Given the description of an element on the screen output the (x, y) to click on. 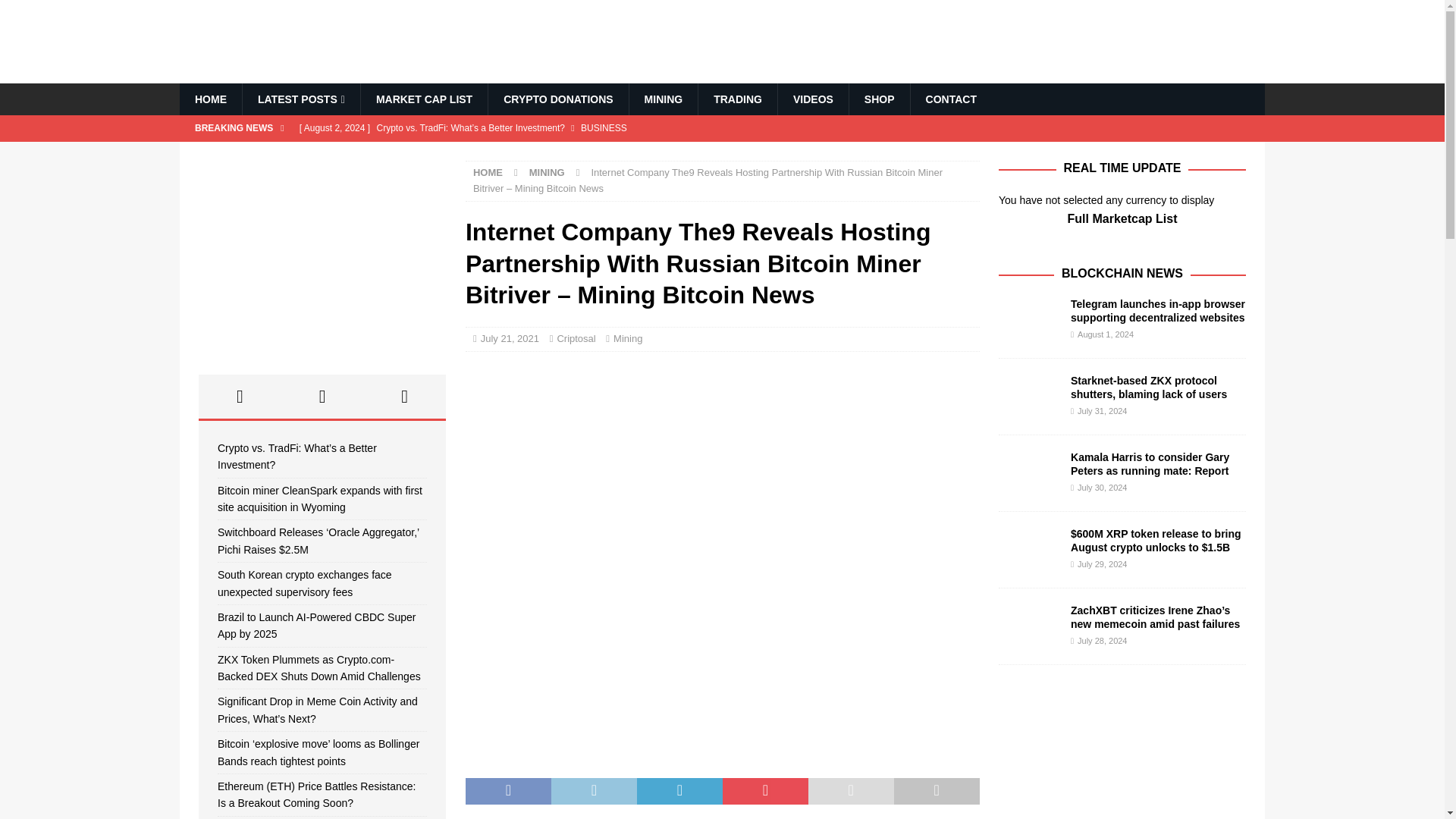
Mining (627, 337)
July 21, 2021 (509, 337)
VIDEOS (812, 99)
Criptosal (575, 337)
LATEST POSTS (300, 99)
CRYPTO DONATIONS (557, 99)
MARKET CAP LIST (423, 99)
TRADING (737, 99)
